Given the description of an element on the screen output the (x, y) to click on. 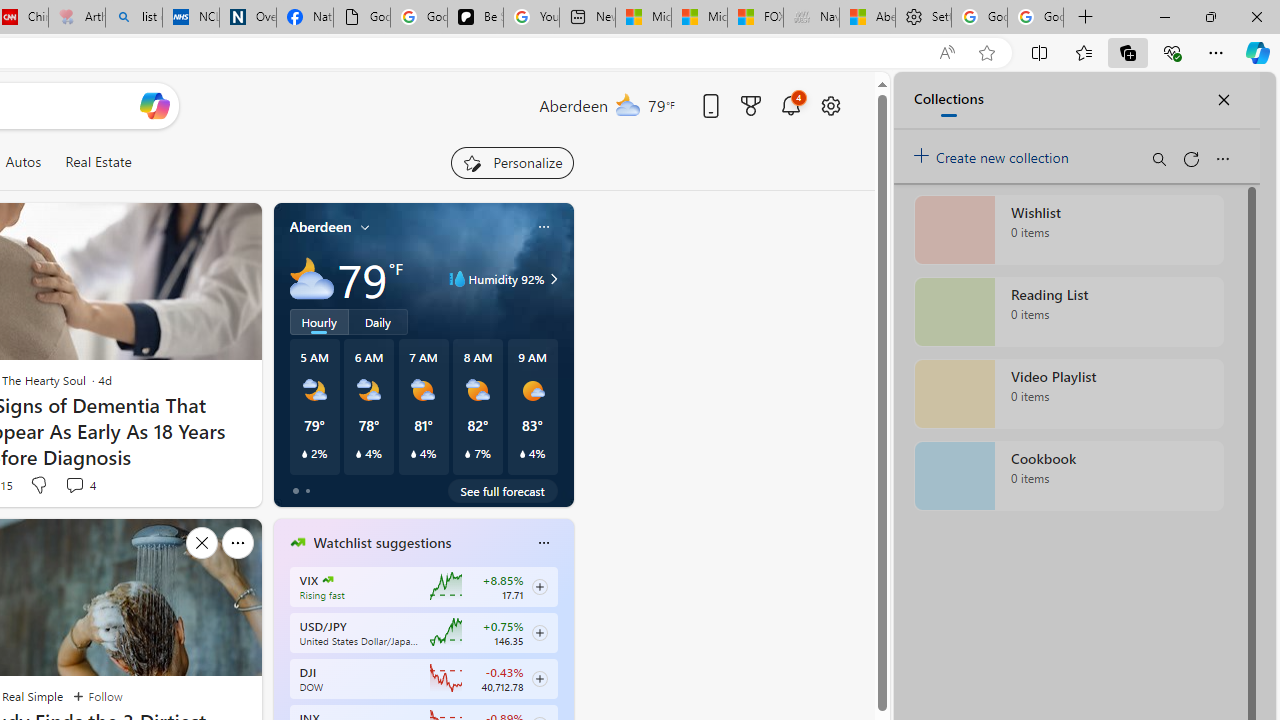
Aberdeen (320, 227)
View comments 4 Comment (74, 485)
See full forecast (502, 490)
